Given the description of an element on the screen output the (x, y) to click on. 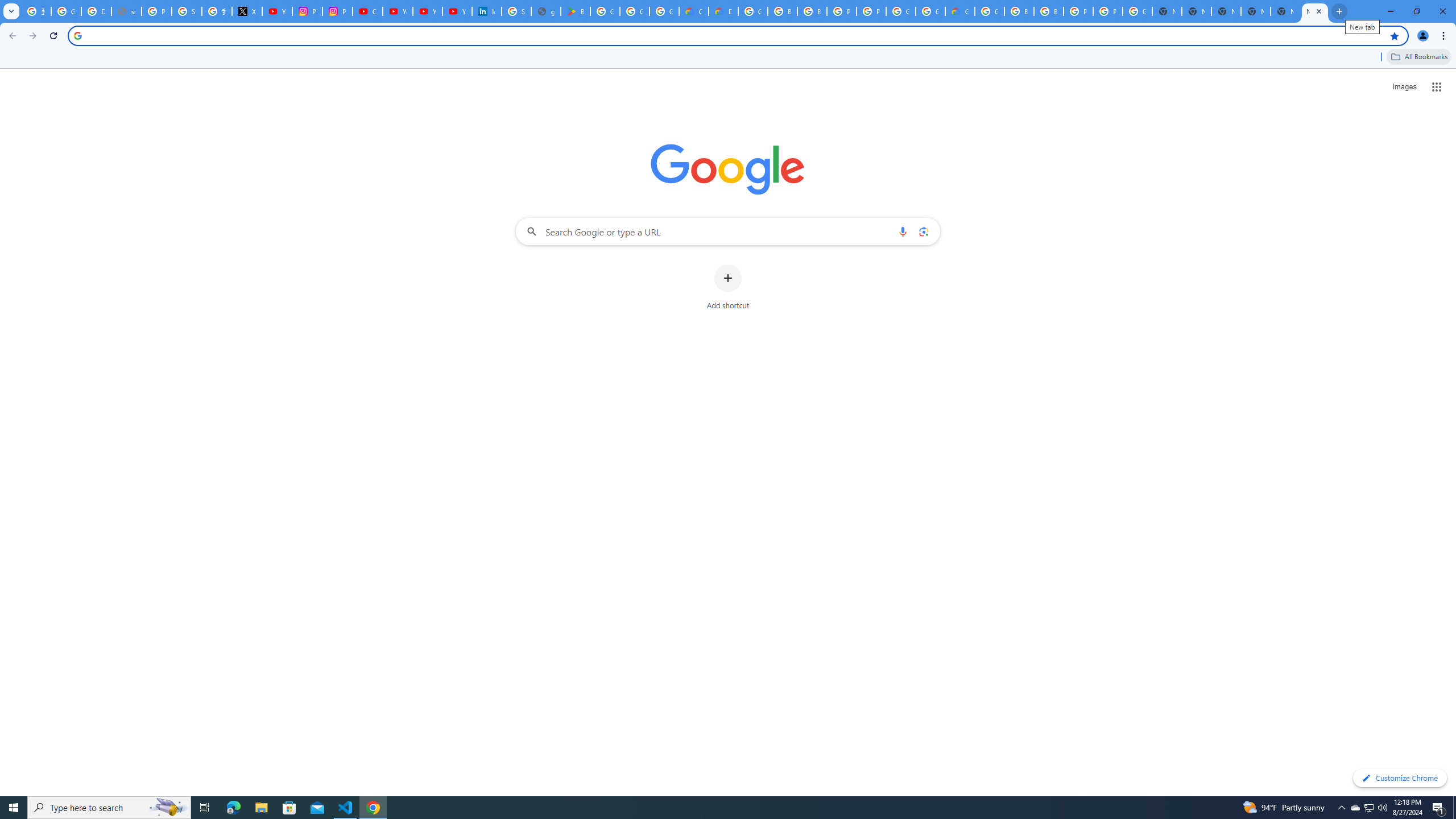
YouTube Content Monetization Policies - How YouTube Works (277, 11)
Customer Care | Google Cloud (693, 11)
Privacy Help Center - Policies Help (156, 11)
